Given the description of an element on the screen output the (x, y) to click on. 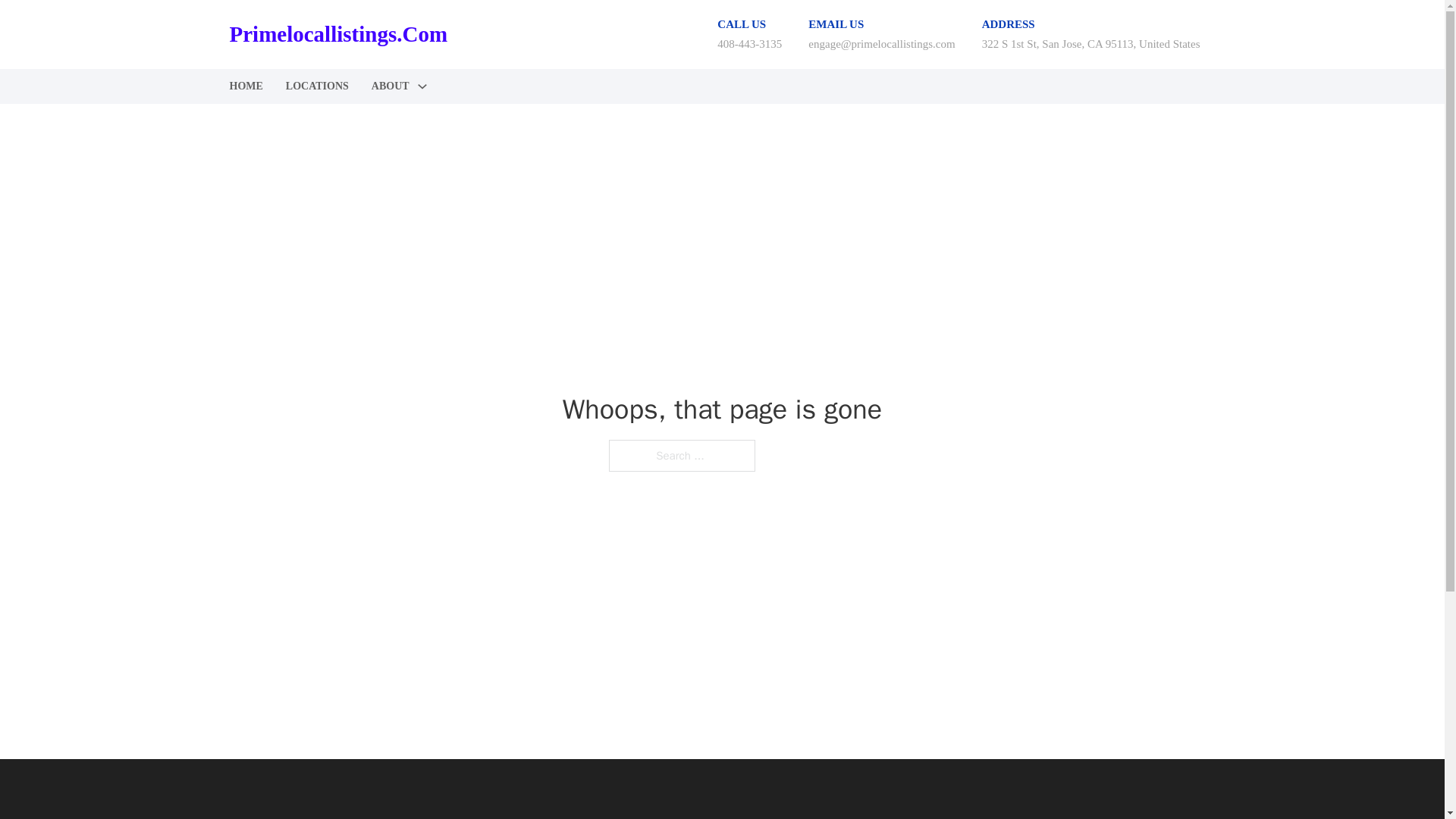
Primelocallistings.Com (337, 34)
408-443-3135 (749, 43)
HOME (245, 85)
LOCATIONS (317, 85)
